Given the description of an element on the screen output the (x, y) to click on. 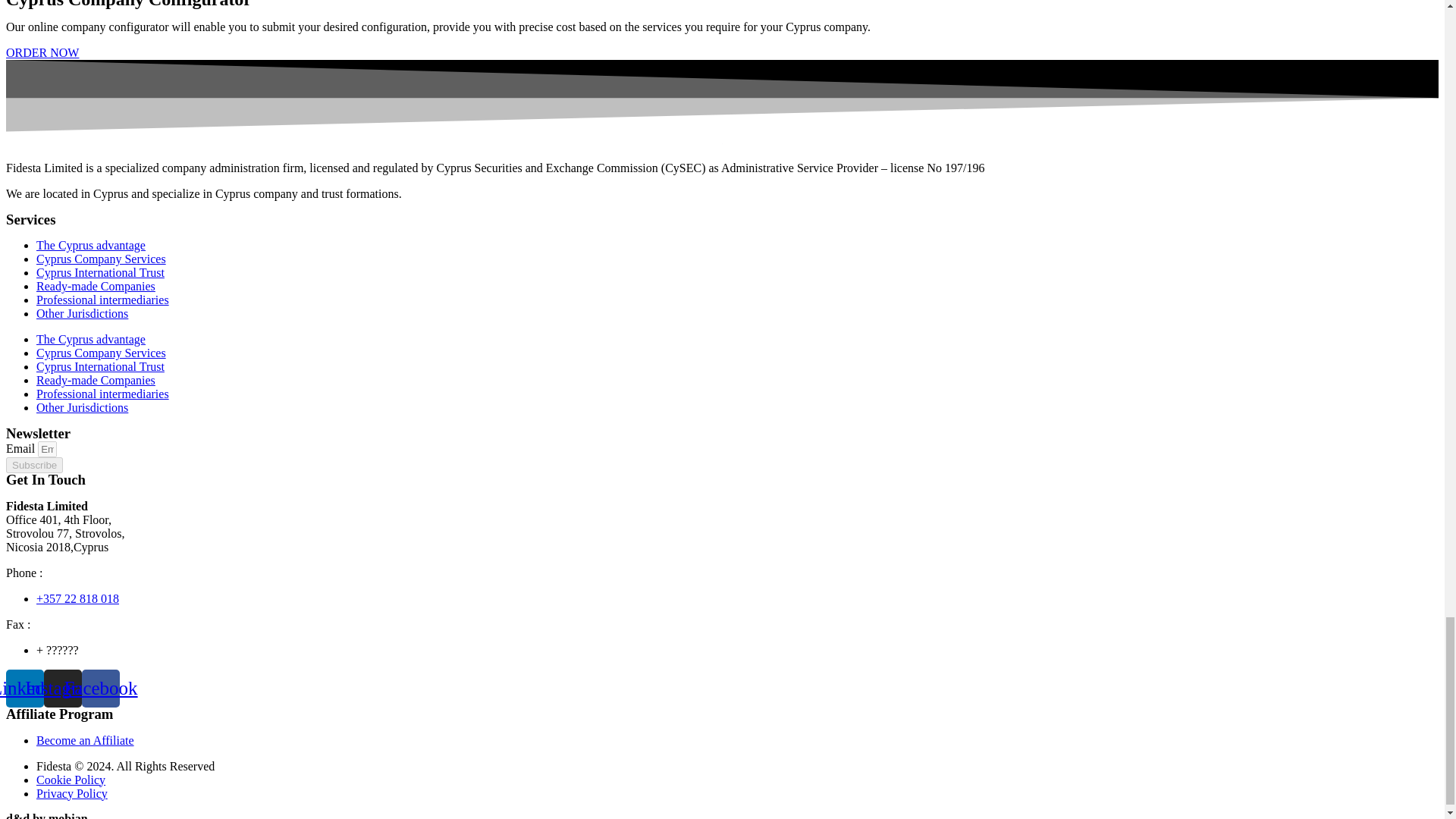
Find us on LinkedIn (100, 688)
Find us on LinkedIn (24, 688)
Find us on LinkedIn (62, 688)
